Given the description of an element on the screen output the (x, y) to click on. 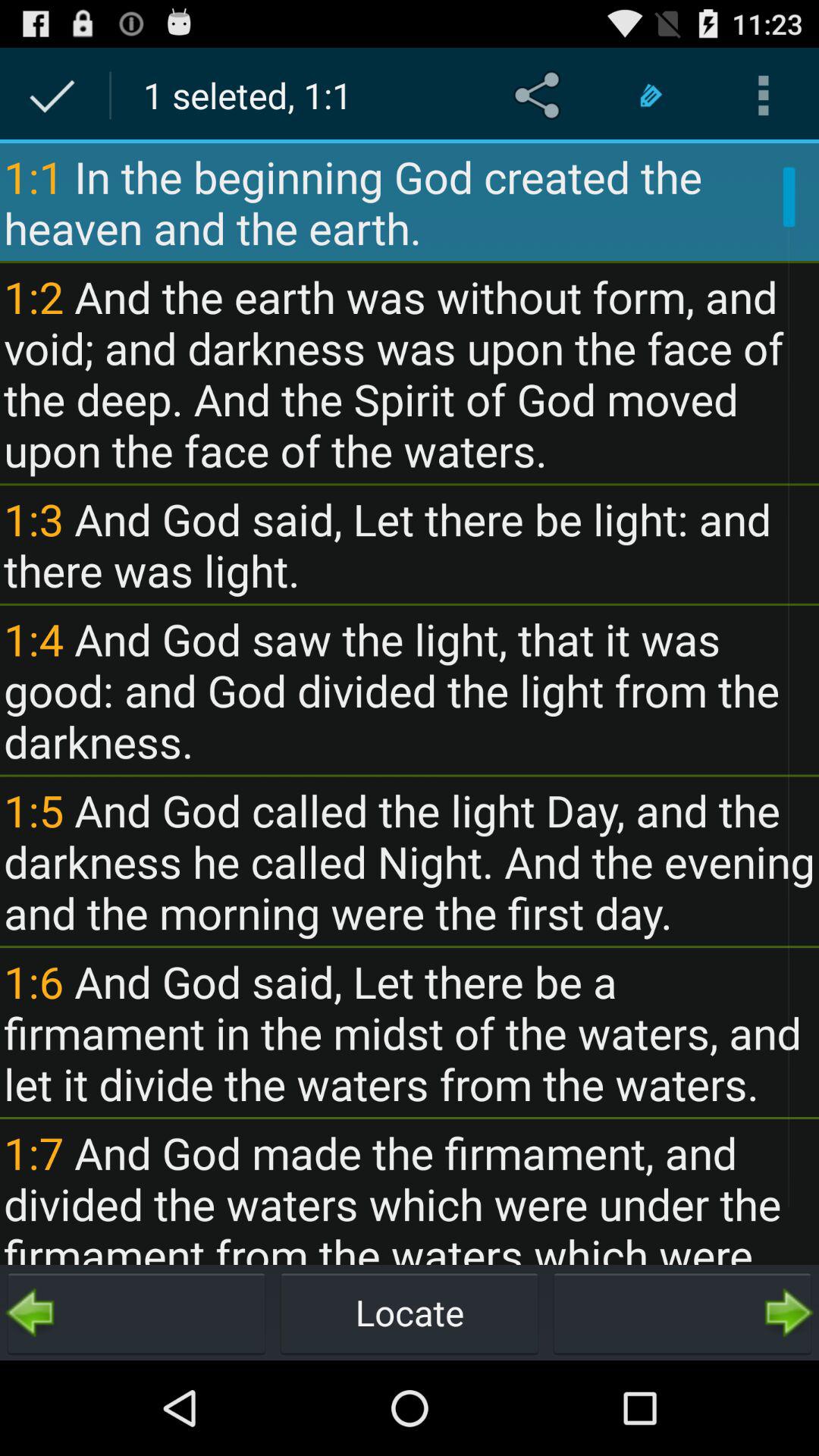
go back (136, 1312)
